Given the description of an element on the screen output the (x, y) to click on. 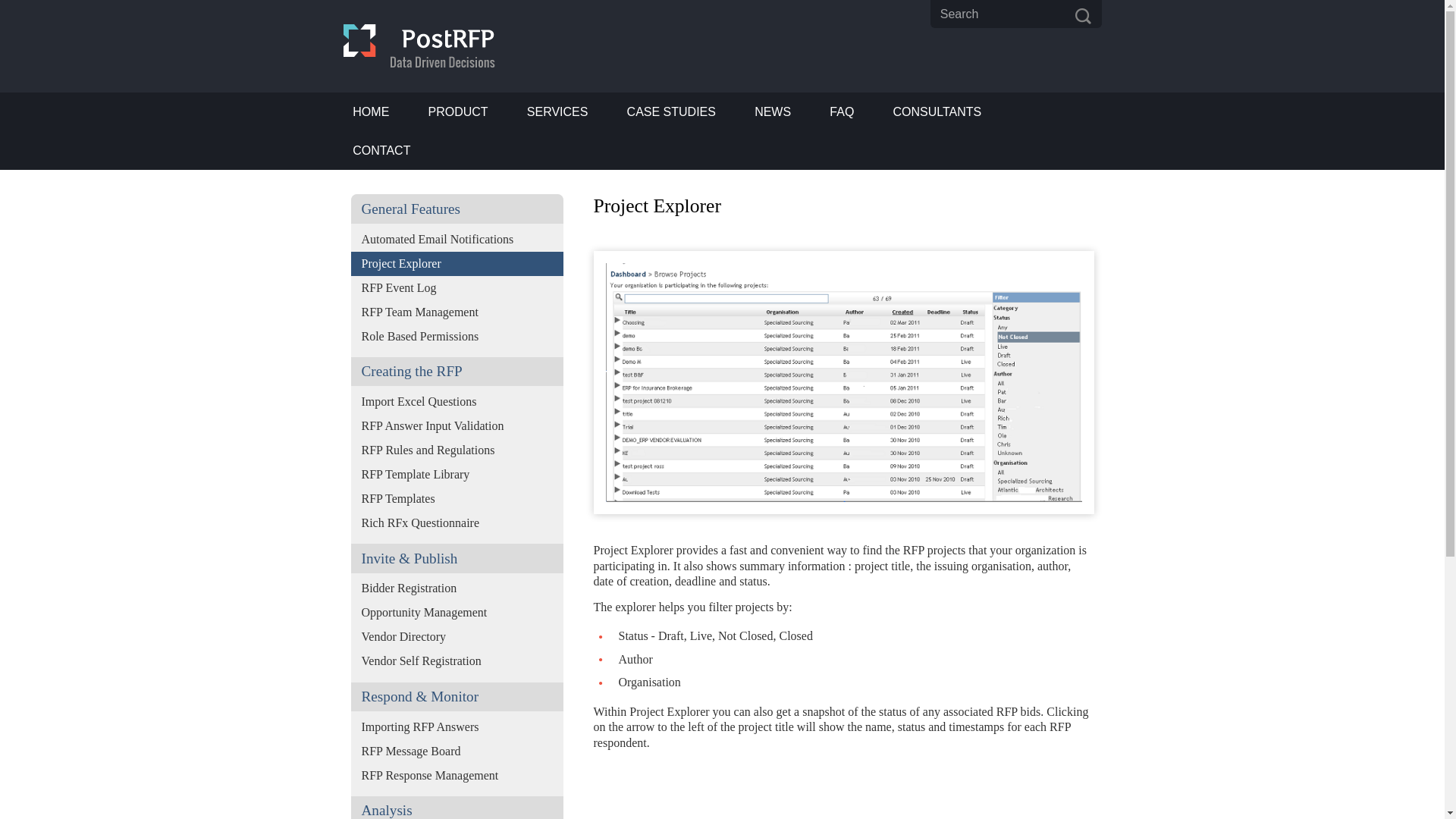
Opportunity Management (456, 612)
Search (1016, 13)
PRODUCT (458, 111)
CONTACT (381, 150)
Bidder Registration (456, 588)
Importing RFP Answers (456, 726)
RFP Answer Input Validation (456, 426)
RFP Event Log (456, 288)
RFP Rules and Regulations (456, 450)
HOME (370, 111)
